Given the description of an element on the screen output the (x, y) to click on. 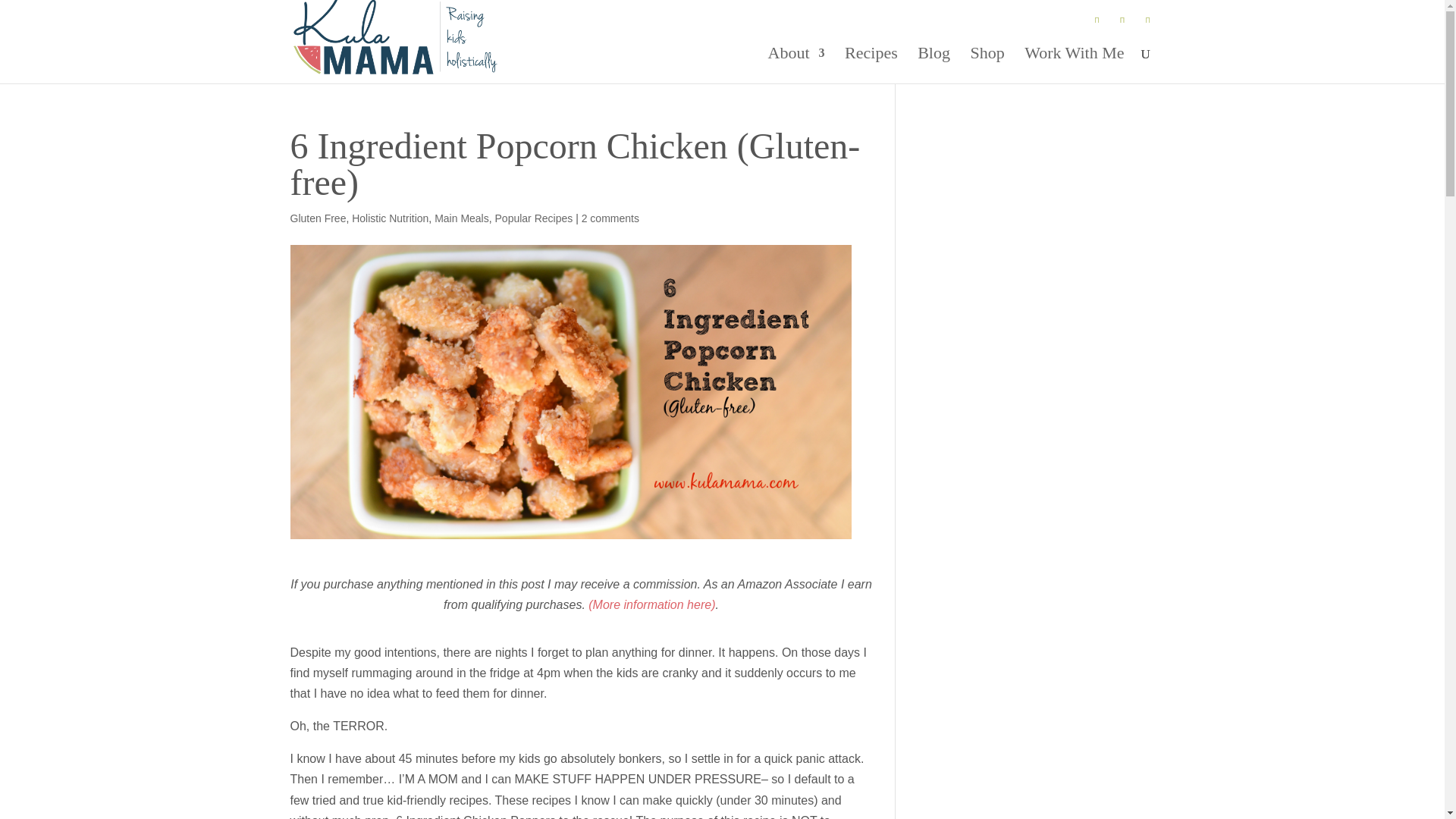
Popular Recipes (534, 218)
Main Meals (461, 218)
2 comments (609, 218)
Gluten Free (317, 218)
About (796, 65)
Holistic Nutrition (390, 218)
Work With Me (1074, 65)
Recipes (871, 65)
Shop (986, 65)
Blog (933, 65)
